Given the description of an element on the screen output the (x, y) to click on. 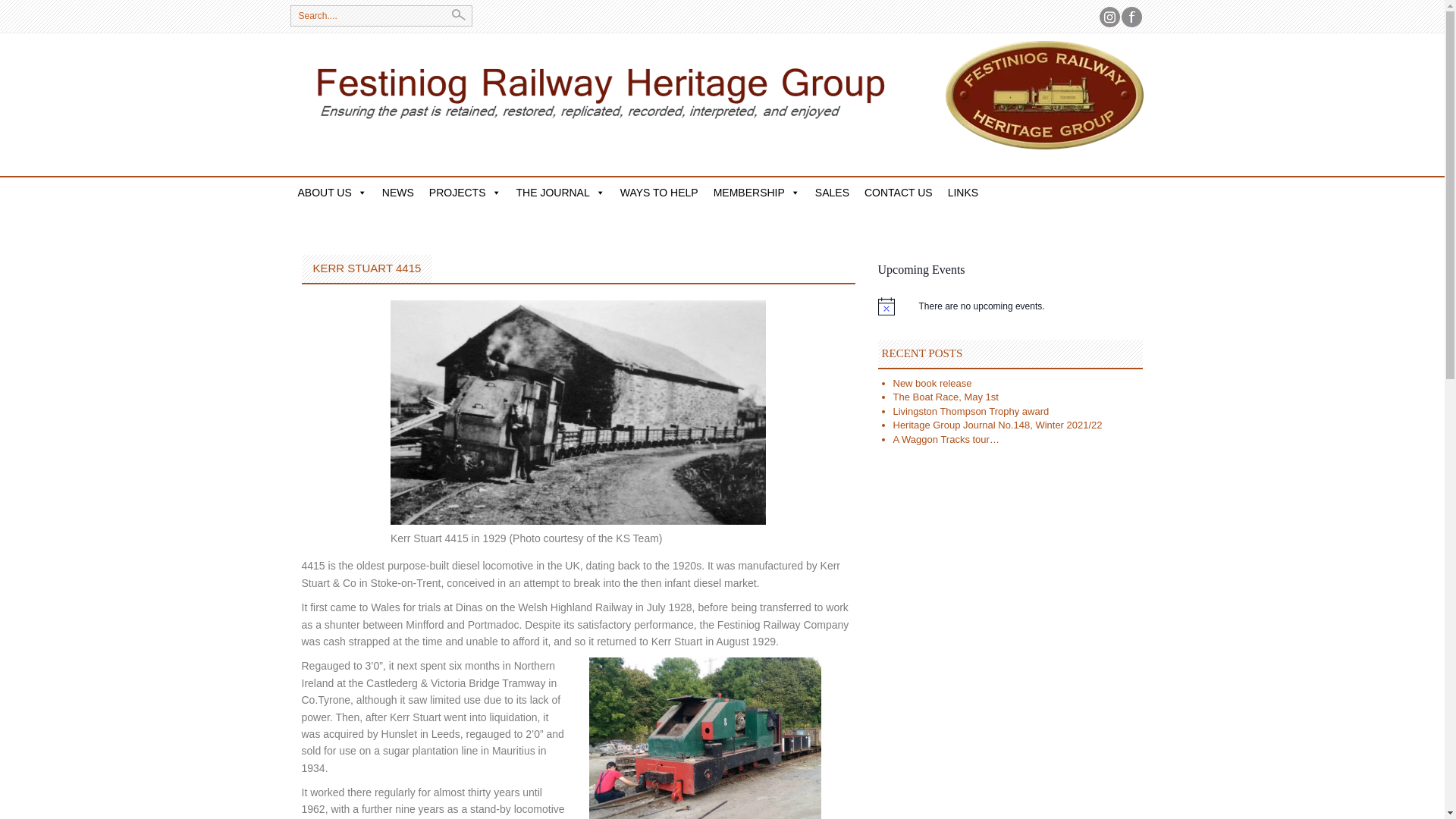
NEWS (398, 192)
New book release (932, 383)
WAYS TO HELP (659, 192)
THE JOURNAL (559, 192)
ABOUT US (331, 192)
MEMBERSHIP (757, 192)
CONTACT US (898, 192)
PROJECTS (465, 192)
LINKS (962, 192)
SALES (832, 192)
